Given the description of an element on the screen output the (x, y) to click on. 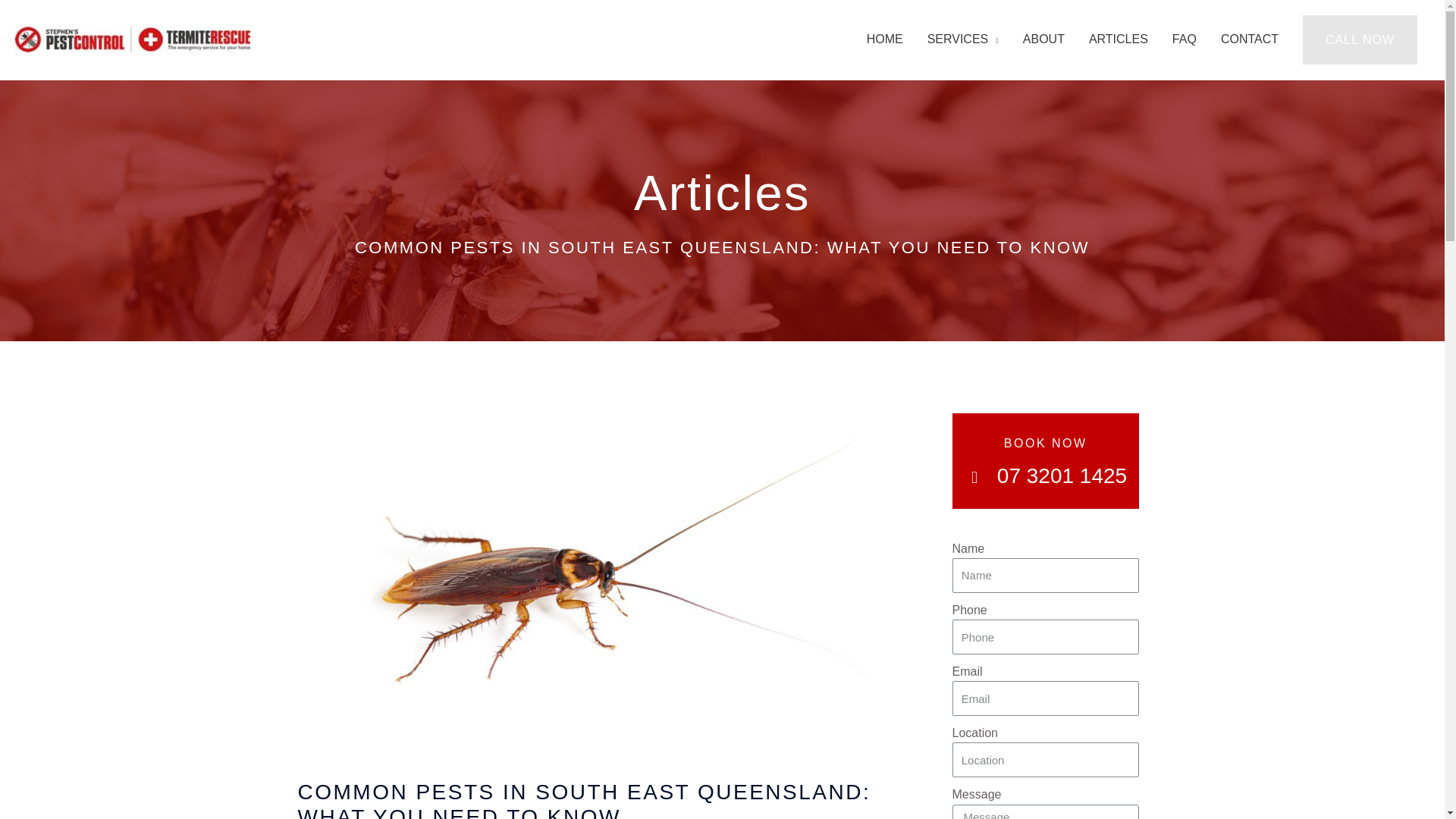
Contact our Brisbane Pest Control team (1249, 39)
07 3201 1425 (1045, 476)
Send an online enquiry today (1045, 678)
Articles and advice on pests and termites around the home (1118, 39)
CALL NOW (1359, 40)
Our Brisbane termite and pest services (962, 39)
ABOUT (1043, 39)
FAQ (1184, 39)
About Termite Rescue Brisbane (1043, 39)
Frequently Asked Questions at Termite Rescue (1184, 39)
ARTICLES (1118, 39)
CONTACT (1249, 39)
SERVICES (962, 39)
HOME (884, 39)
